Given the description of an element on the screen output the (x, y) to click on. 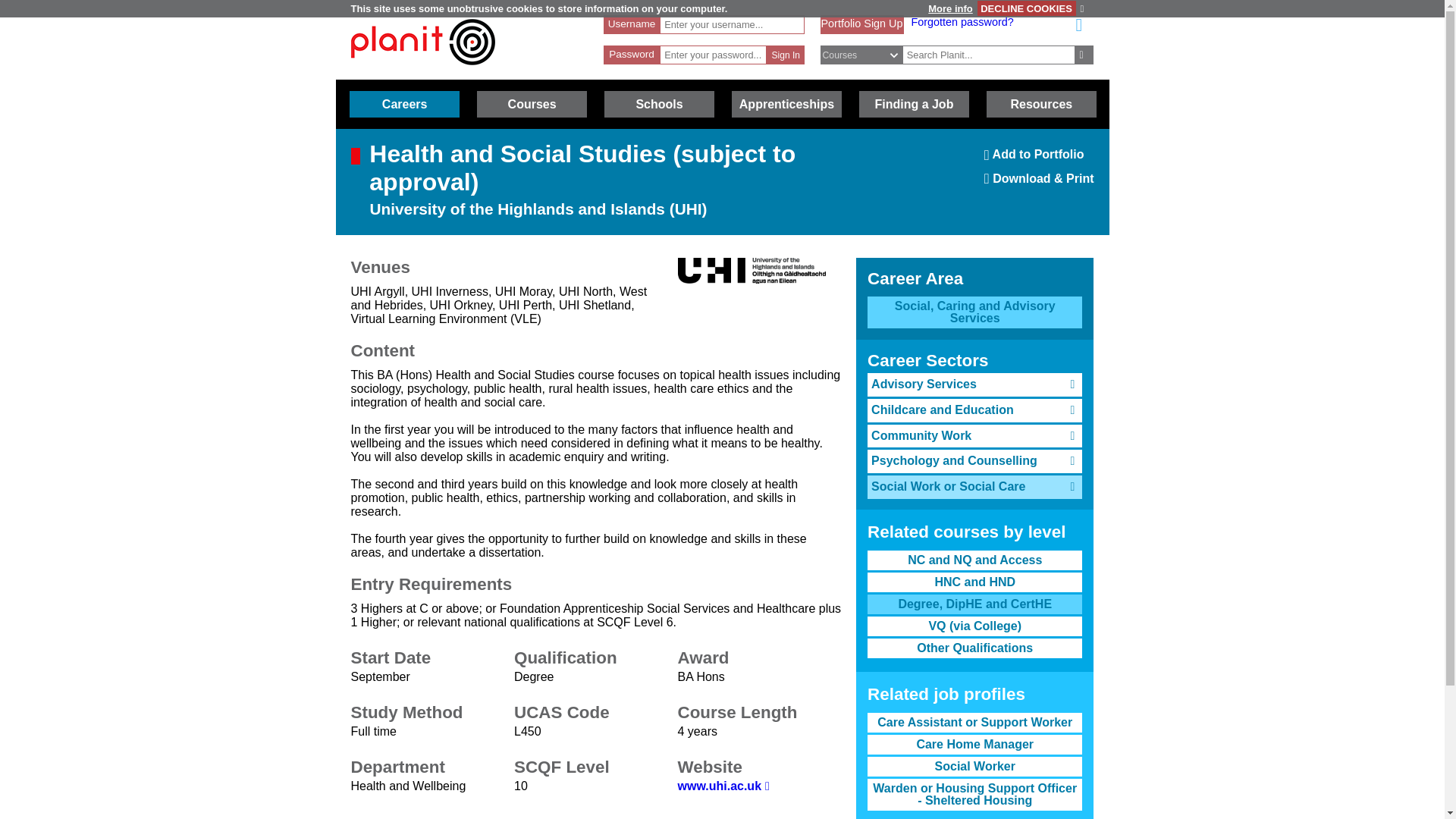
Courses (531, 103)
Sign In (786, 54)
Planit Home (1039, 159)
Select search type (422, 72)
Search (869, 54)
Enter text to search Planit (1084, 54)
Resources (988, 54)
Portfolio Sign Up (1041, 103)
Forgotten password? (861, 23)
Sign In (962, 21)
Close (786, 54)
Careers (1084, 9)
www.uhi.ac.uk (404, 103)
DECLINE COOKIES (724, 785)
